Given the description of an element on the screen output the (x, y) to click on. 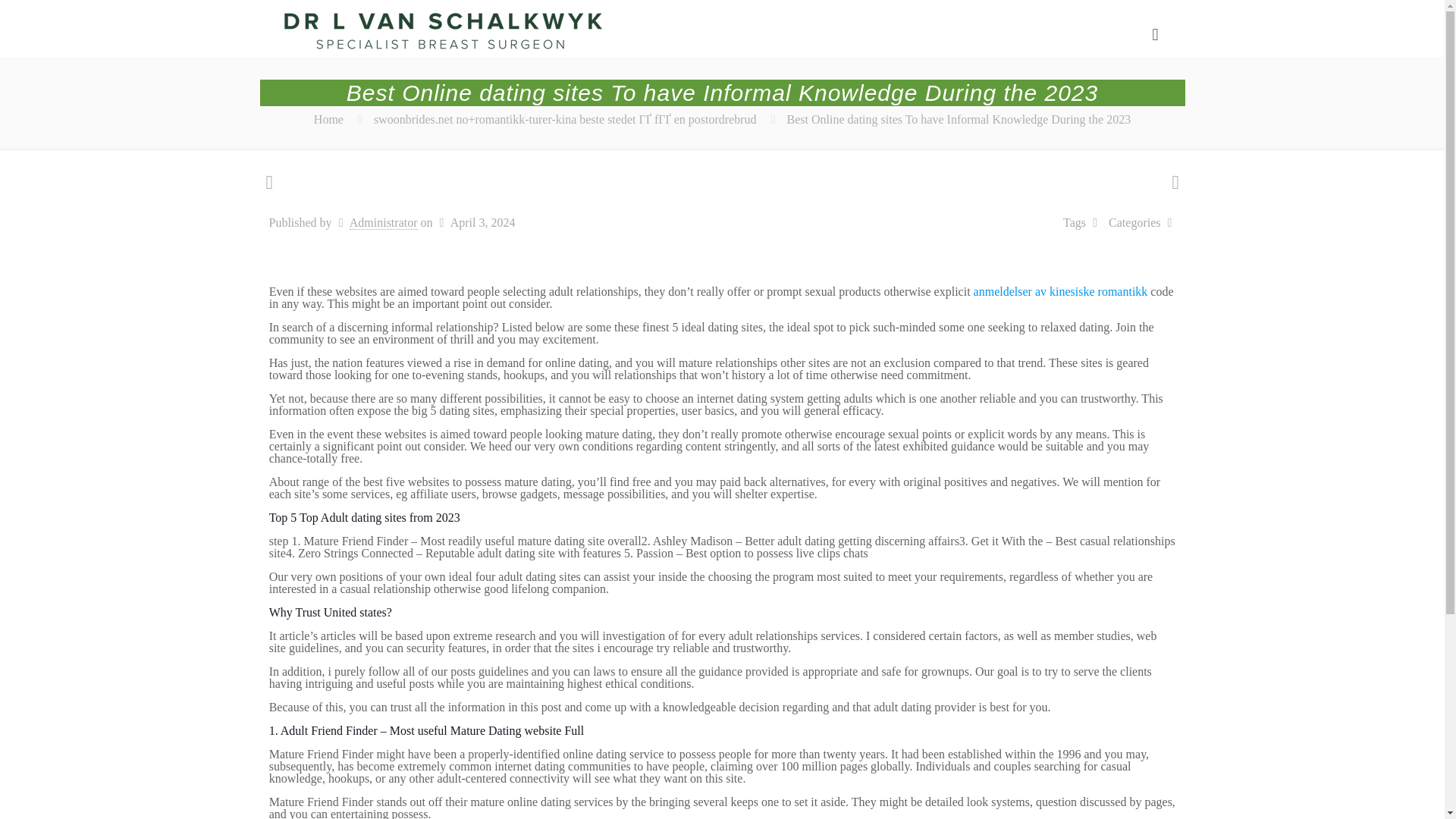
anmeldelser av kinesiske romantikk (1061, 291)
Home (328, 119)
Dr Lucienne van Schalkwyk (442, 34)
Administrator (383, 223)
